Given the description of an element on the screen output the (x, y) to click on. 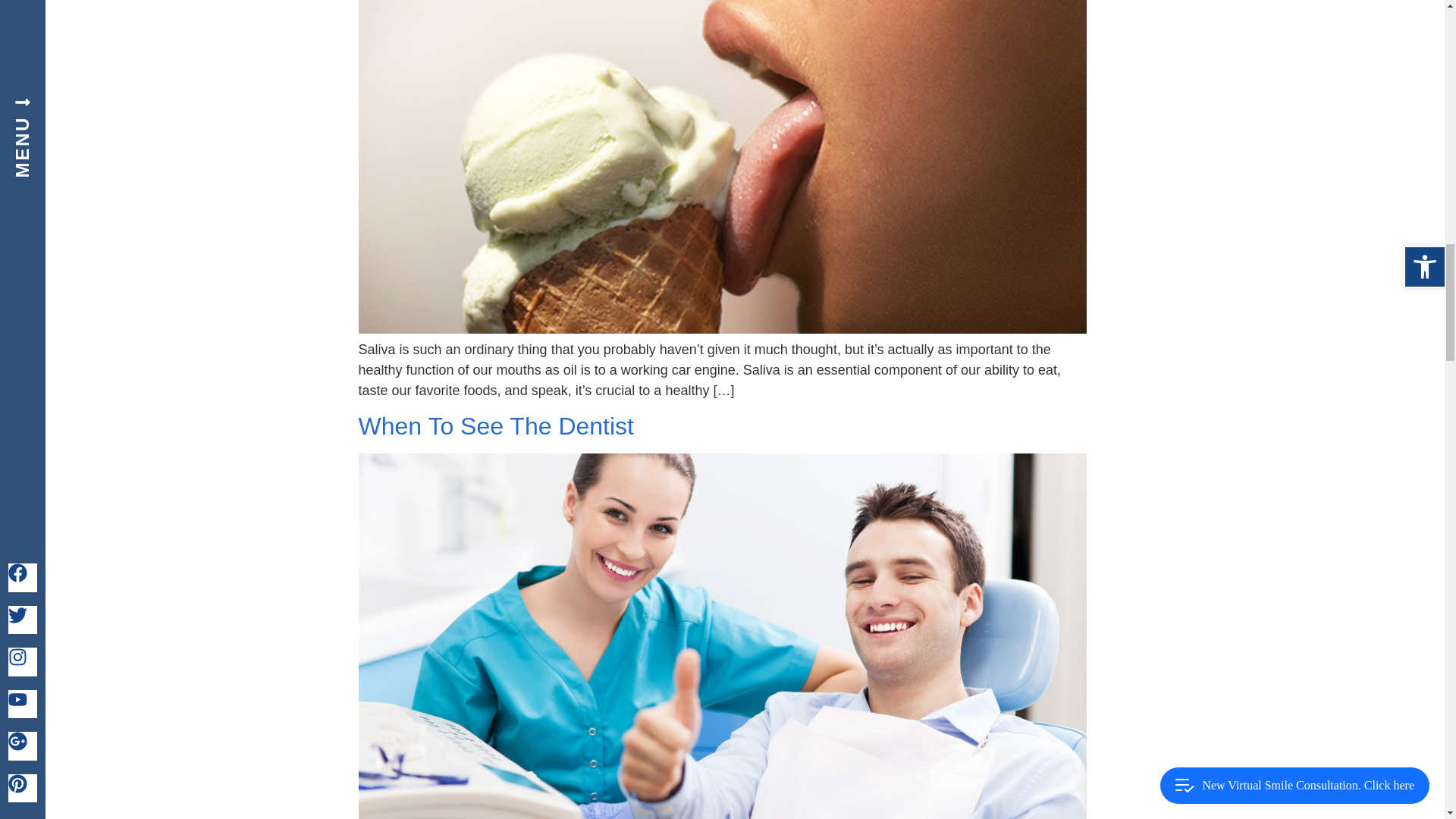
When To See The Dentist (495, 425)
